Given the description of an element on the screen output the (x, y) to click on. 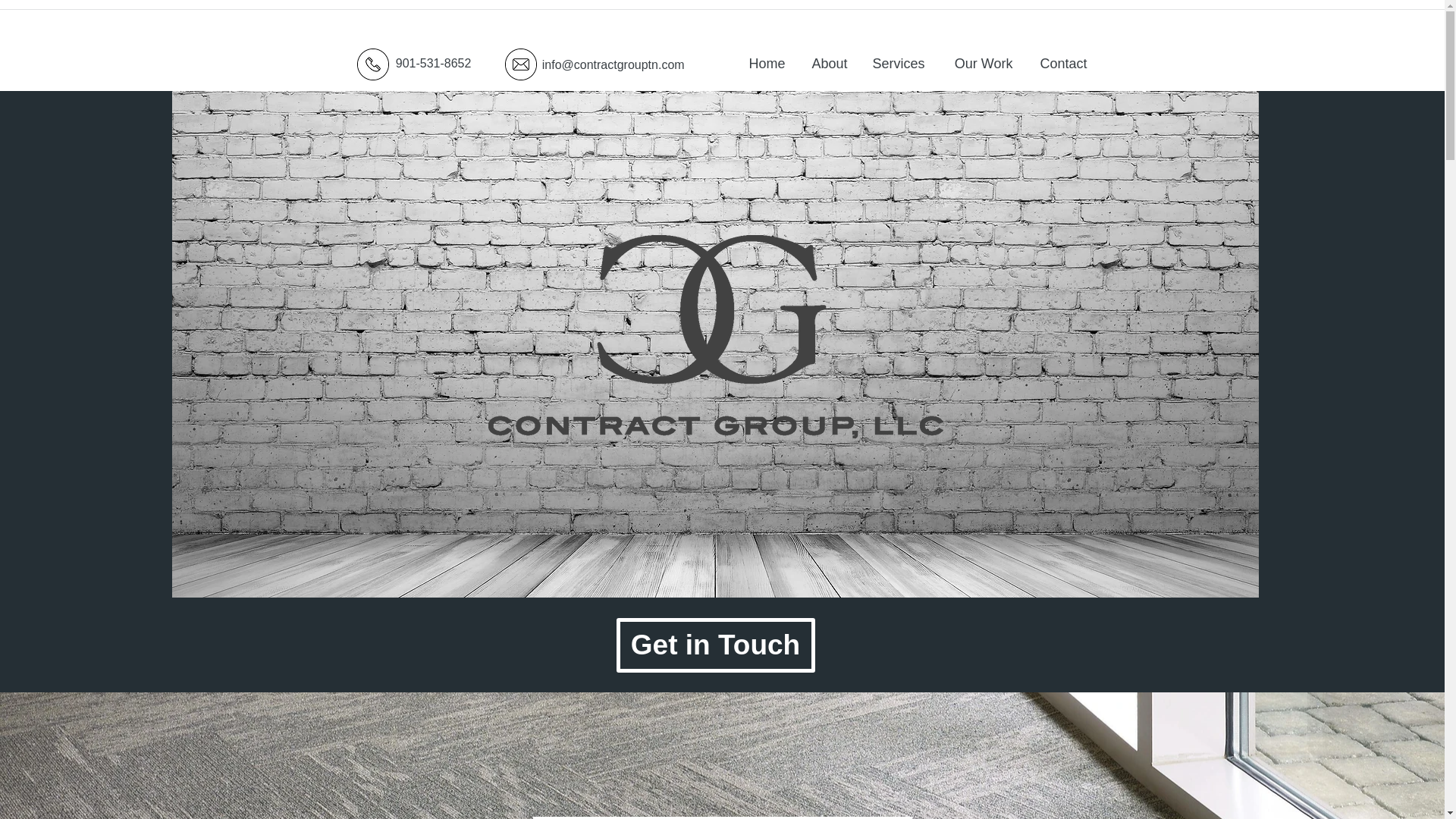
Services (897, 62)
Home (764, 62)
Our Work (979, 62)
Get in Touch (714, 645)
Contact (1060, 62)
About (827, 62)
              901-531-8652 (410, 62)
